Given the description of an element on the screen output the (x, y) to click on. 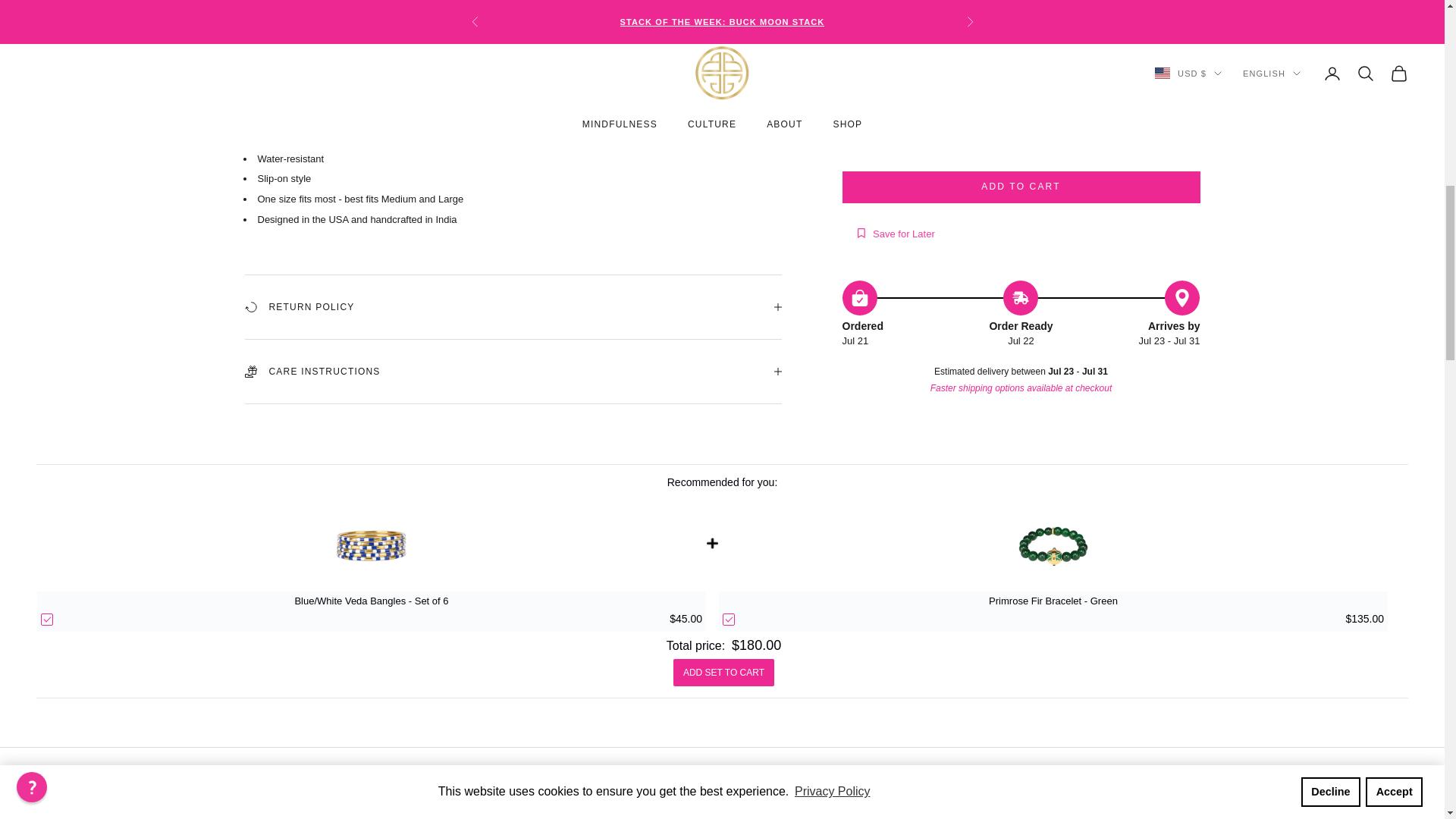
Primrose Fir Bracelet - Green (1053, 600)
Primrose Fir Bracelet - Green (1053, 545)
